Given the description of an element on the screen output the (x, y) to click on. 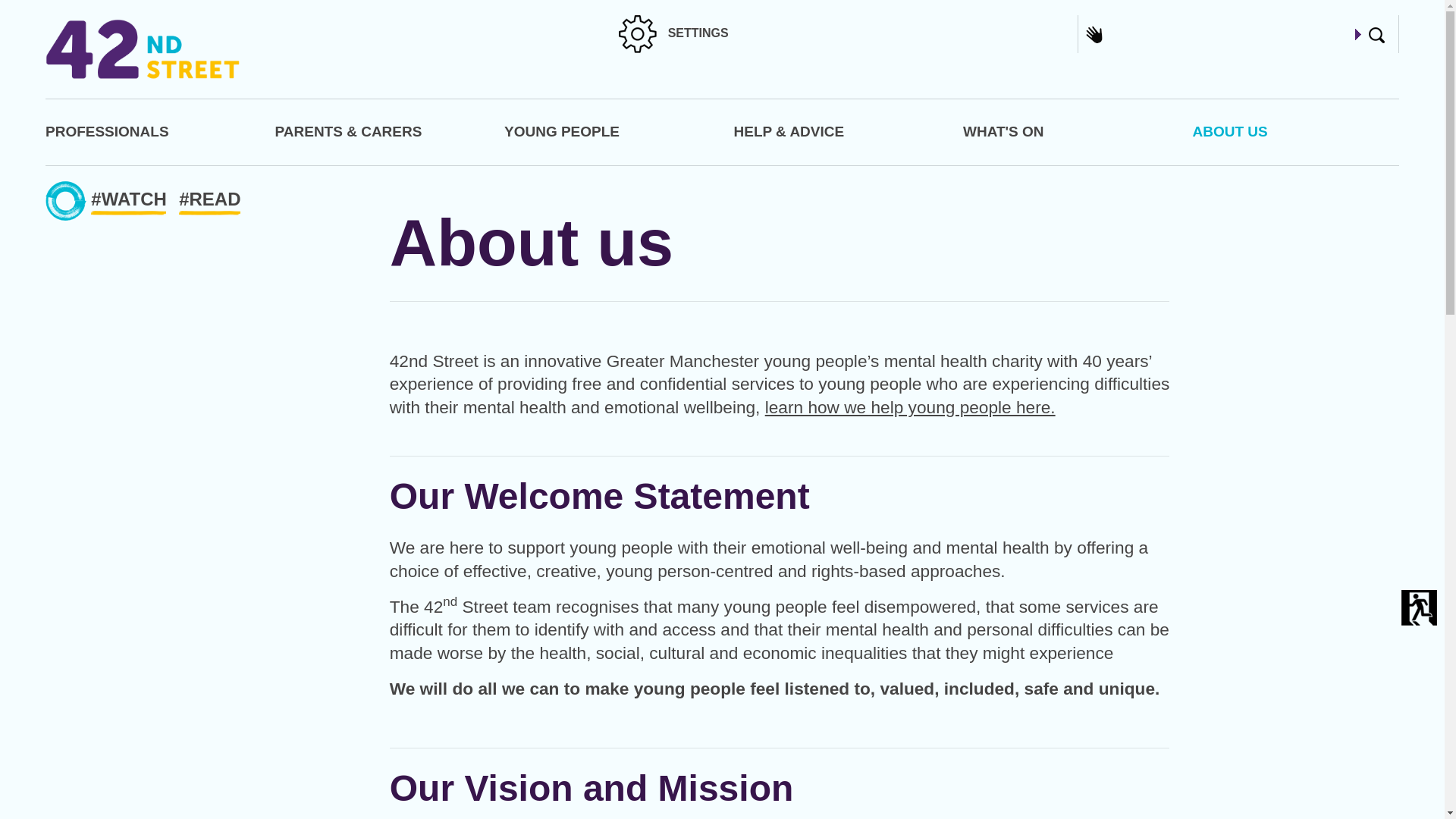
Click here to enter search text (1376, 35)
42nd Street Services (910, 406)
42nd Street website logo (142, 48)
Click here to open site settings (637, 34)
Click here to enter search text (1357, 33)
Type here to enter search text (1237, 34)
hashtag read link (213, 202)
hashtag watch link (132, 202)
Click here to exit site (1418, 607)
Hashtag Breadcrumb Trail Icon (65, 200)
